Given the description of an element on the screen output the (x, y) to click on. 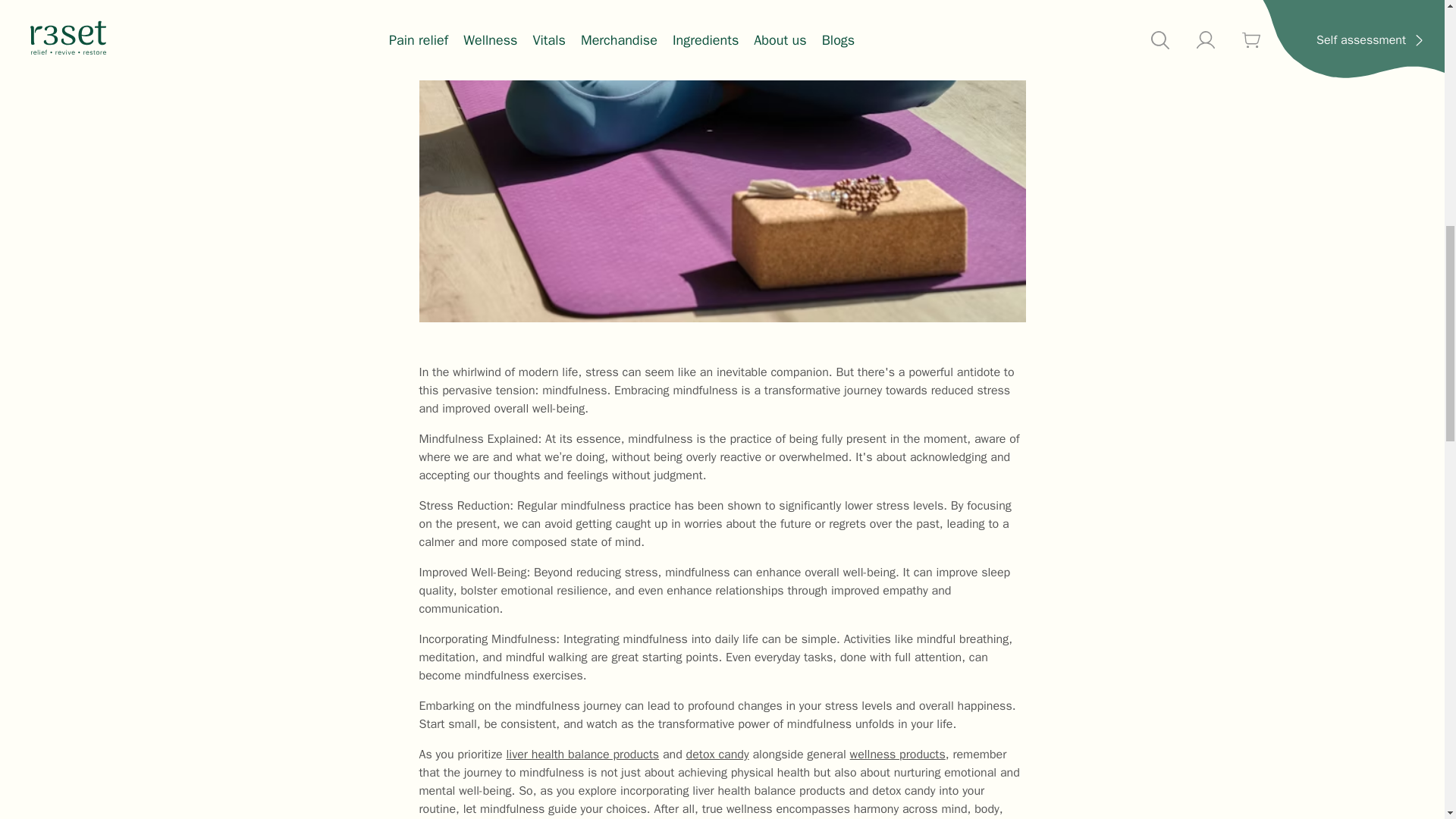
wellness products (897, 754)
detox candy (717, 754)
liver health balance products (582, 754)
